Given the description of an element on the screen output the (x, y) to click on. 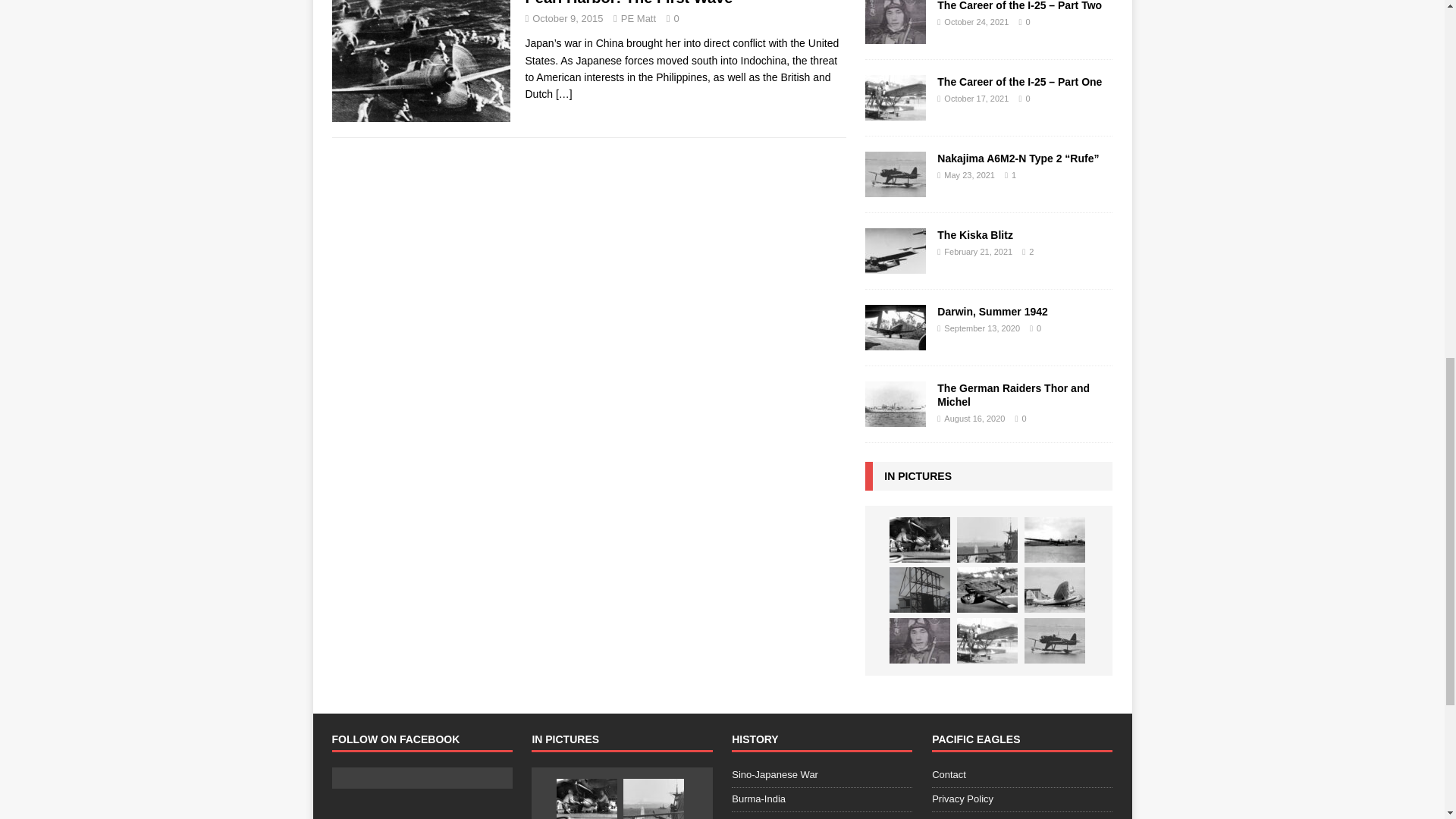
Pearl Harbor: The First Wave (564, 93)
